Given the description of an element on the screen output the (x, y) to click on. 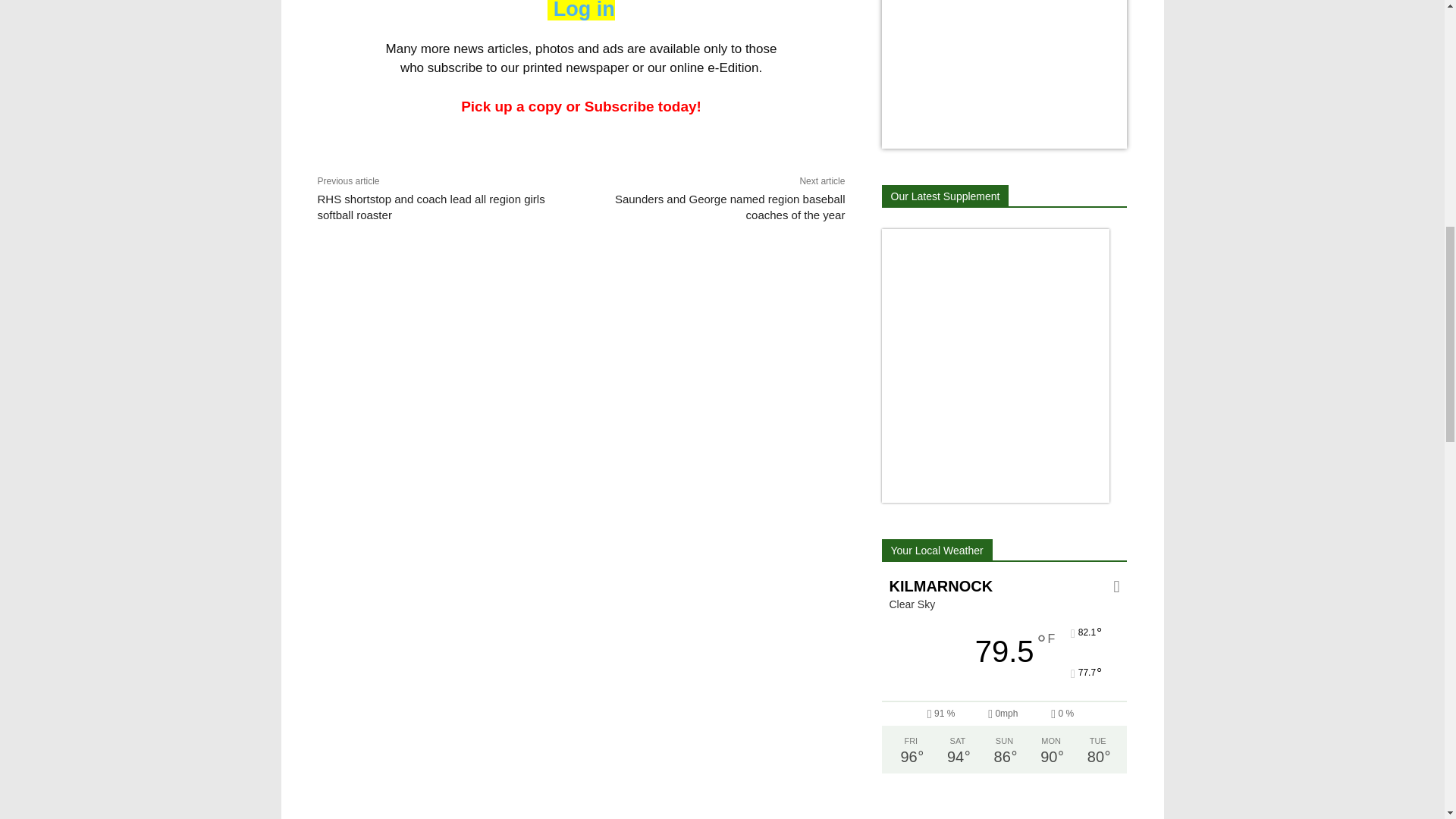
 Log in (580, 10)
Our Latest Supplement (944, 195)
